Given the description of an element on the screen output the (x, y) to click on. 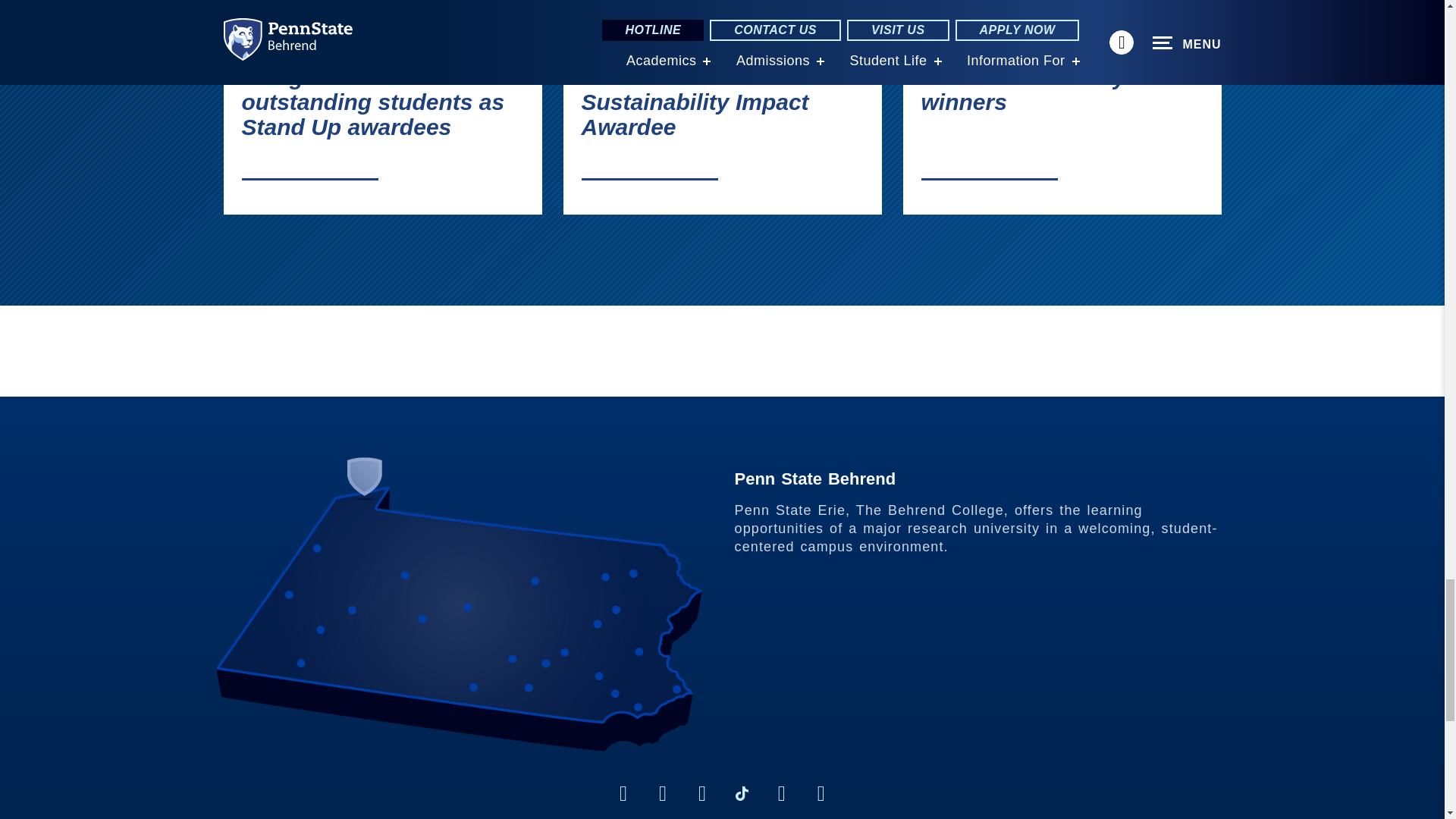
LinkedIn (702, 793)
Instagram (662, 793)
Facebook (622, 793)
TikTok (741, 793)
YouTube (820, 793)
